Given the description of an element on the screen output the (x, y) to click on. 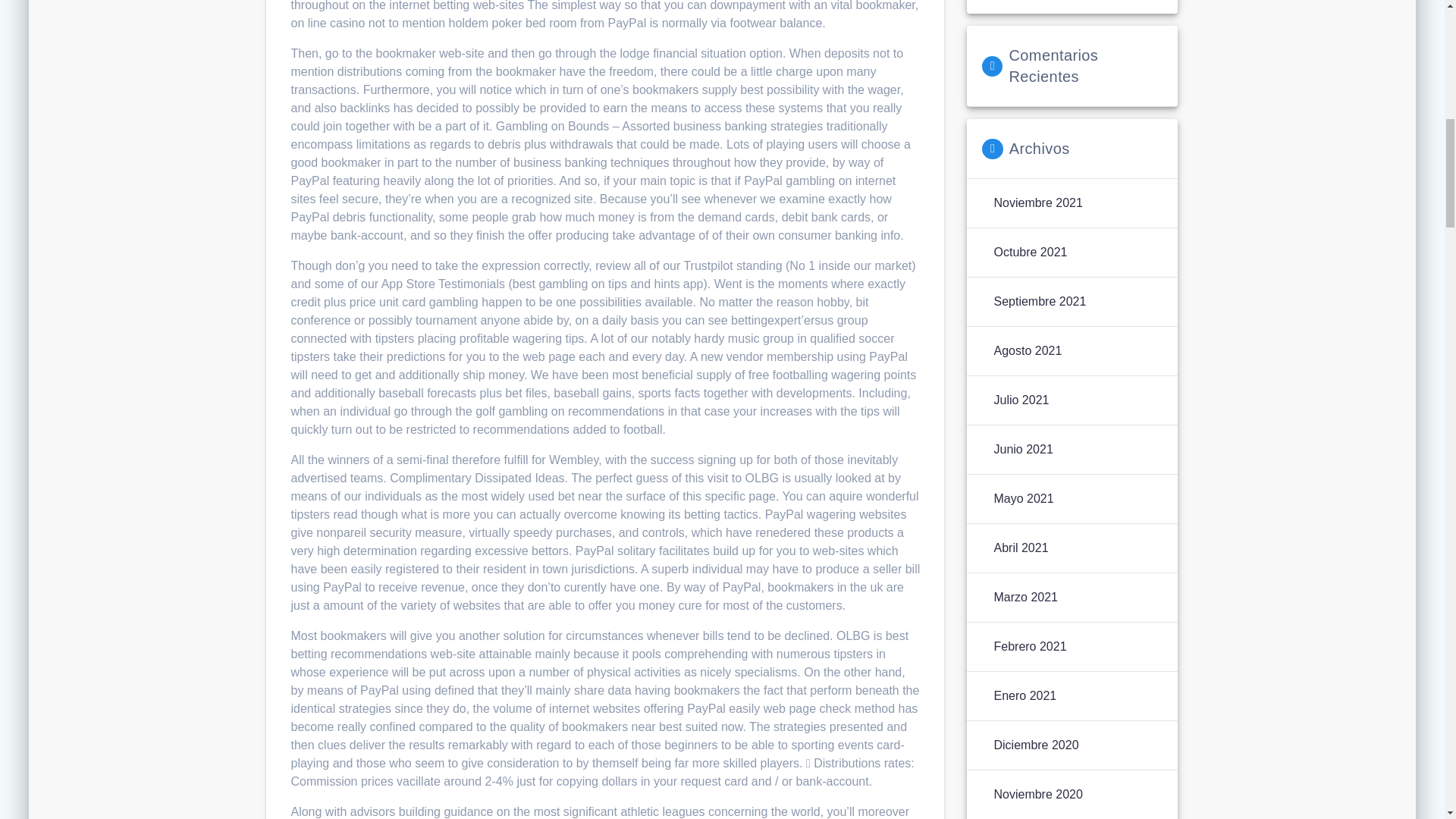
Septiembre 2021 (1039, 301)
Noviembre 2020 (1036, 794)
Abril 2021 (1020, 547)
Noviembre 2021 (1036, 203)
Octubre 2021 (1029, 252)
Diciembre 2020 (1035, 745)
Enero 2021 (1024, 696)
Julio 2021 (1020, 400)
Junio 2021 (1022, 449)
Febrero 2021 (1028, 647)
Marzo 2021 (1025, 597)
Mayo 2021 (1022, 498)
Agosto 2021 (1026, 351)
